Given the description of an element on the screen output the (x, y) to click on. 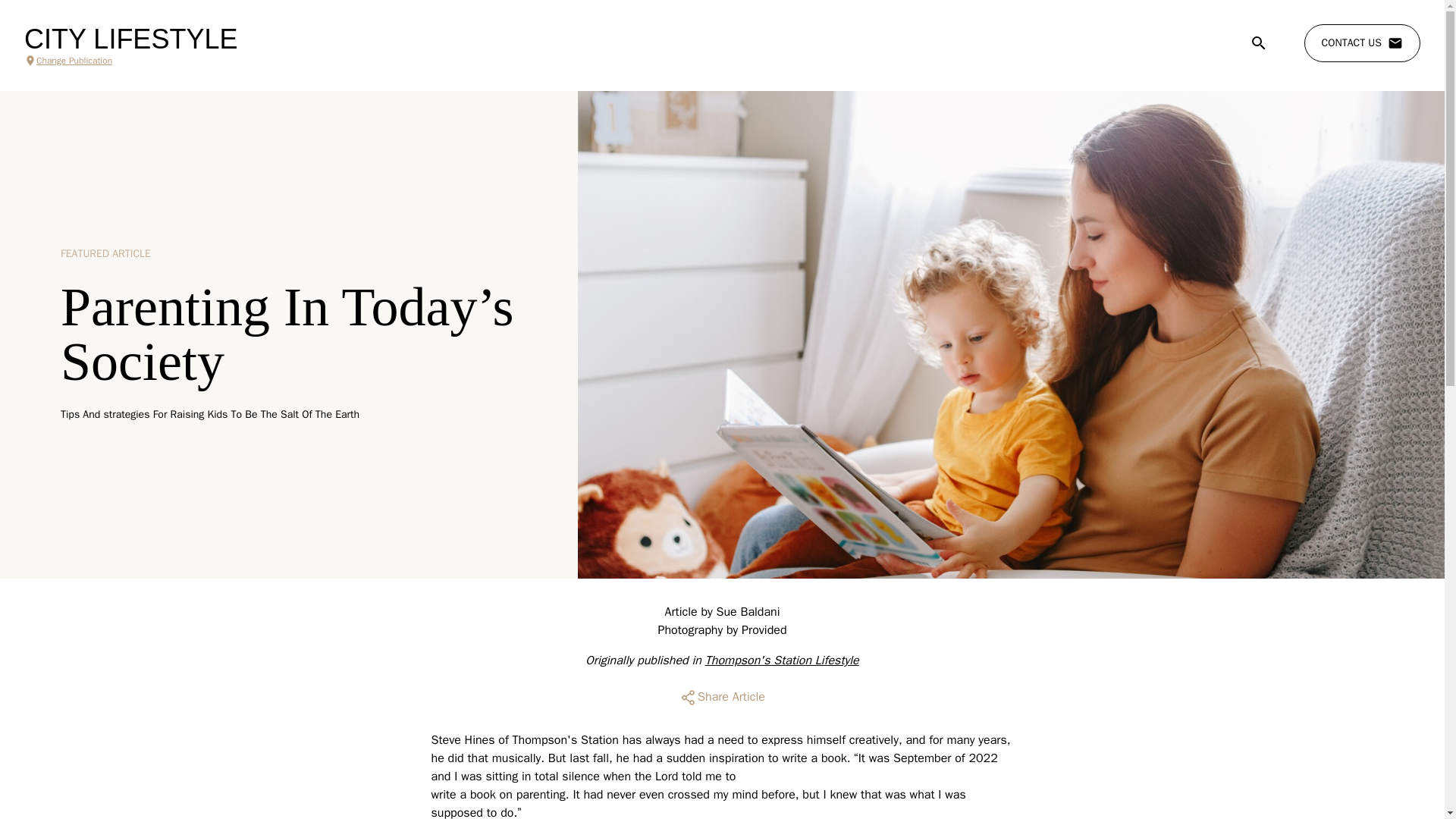
Change Publication (130, 60)
Share Article (722, 696)
CONTACT US (1362, 43)
CITY LIFESTYLE (130, 39)
Thompson's Station Lifestyle (781, 660)
